Given the description of an element on the screen output the (x, y) to click on. 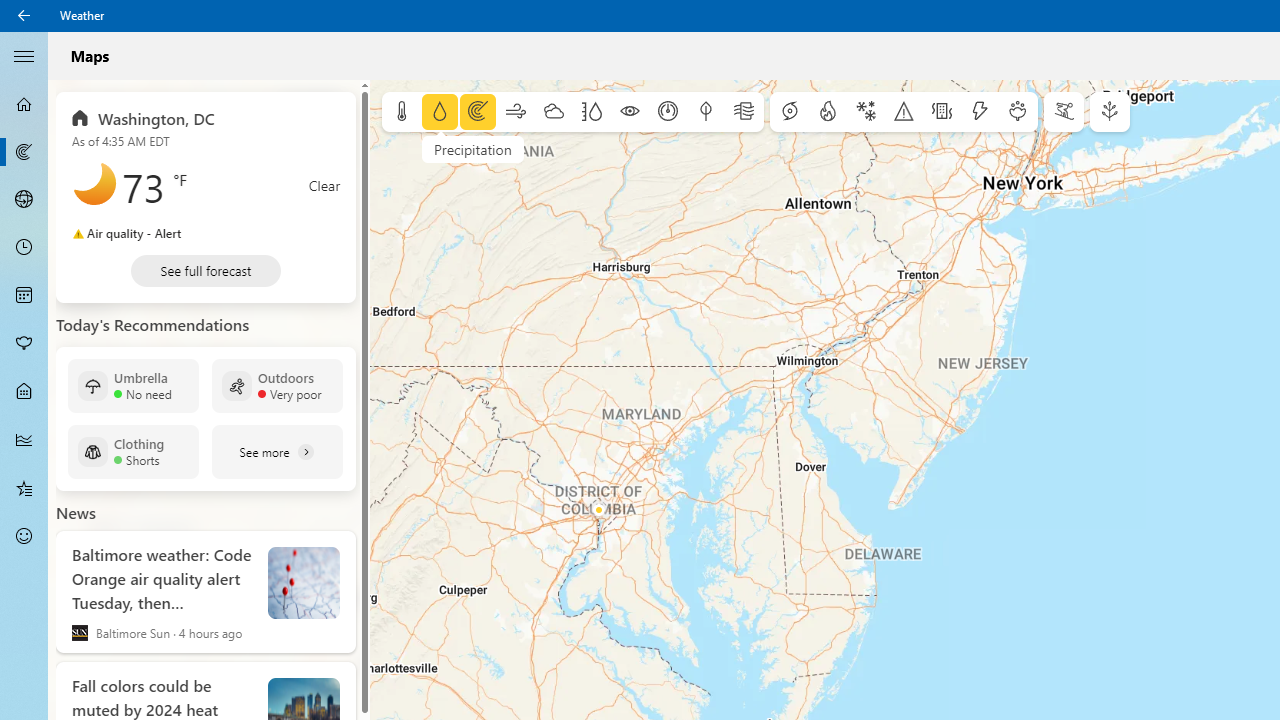
Life - Not Selected (24, 391)
Favorites - Not Selected (24, 487)
Pollen - Not Selected (24, 343)
Forecast - Not Selected (24, 103)
Hourly Forecast - Not Selected (24, 247)
Historical Weather - Not Selected (24, 439)
Life - Not Selected (24, 391)
